Given the description of an element on the screen output the (x, y) to click on. 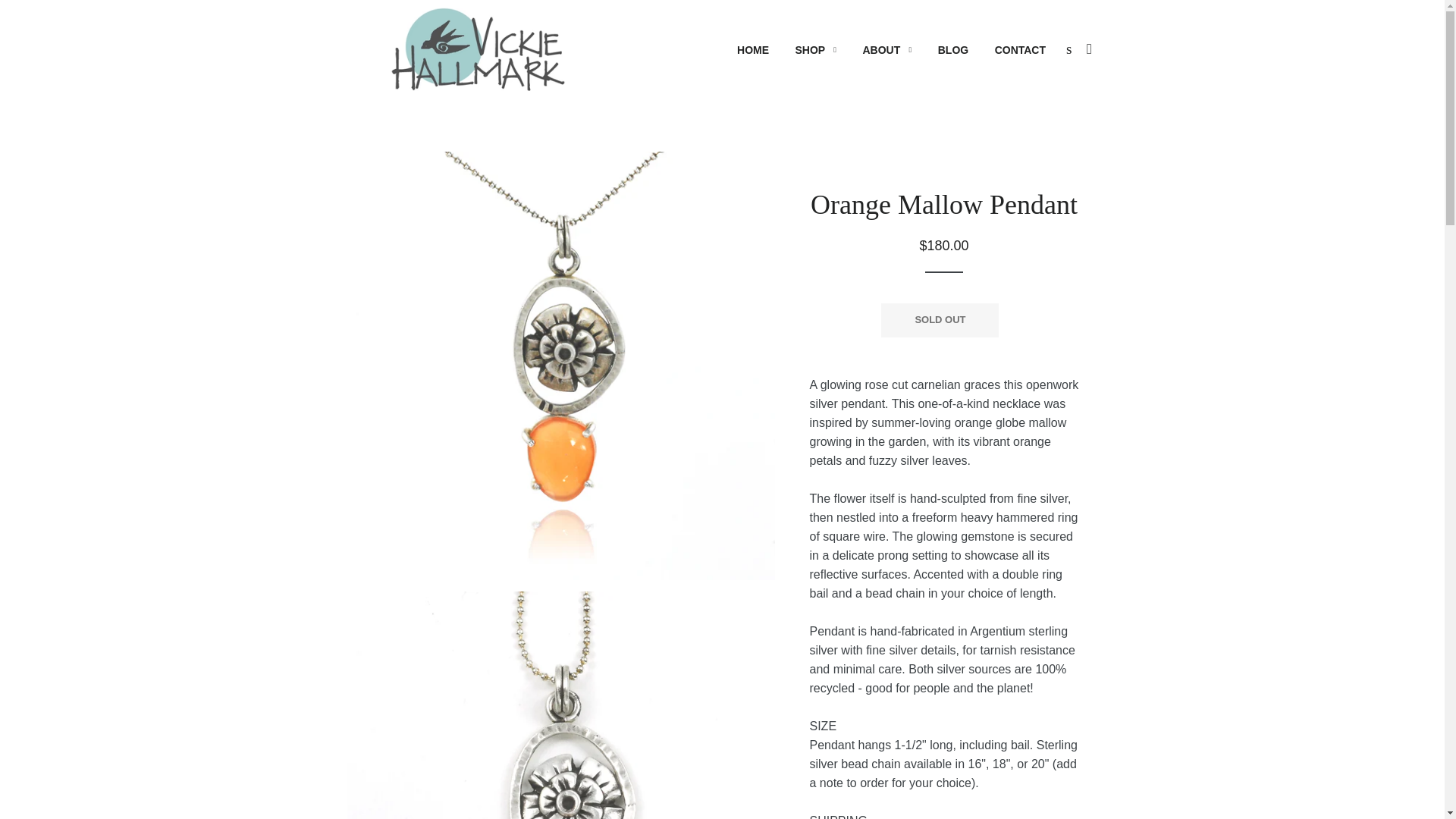
SHOP (815, 50)
CONTACT (1020, 50)
BLOG (952, 50)
ABOUT (886, 50)
CART (1088, 49)
SEARCH (1068, 49)
HOME (752, 50)
